Given the description of an element on the screen output the (x, y) to click on. 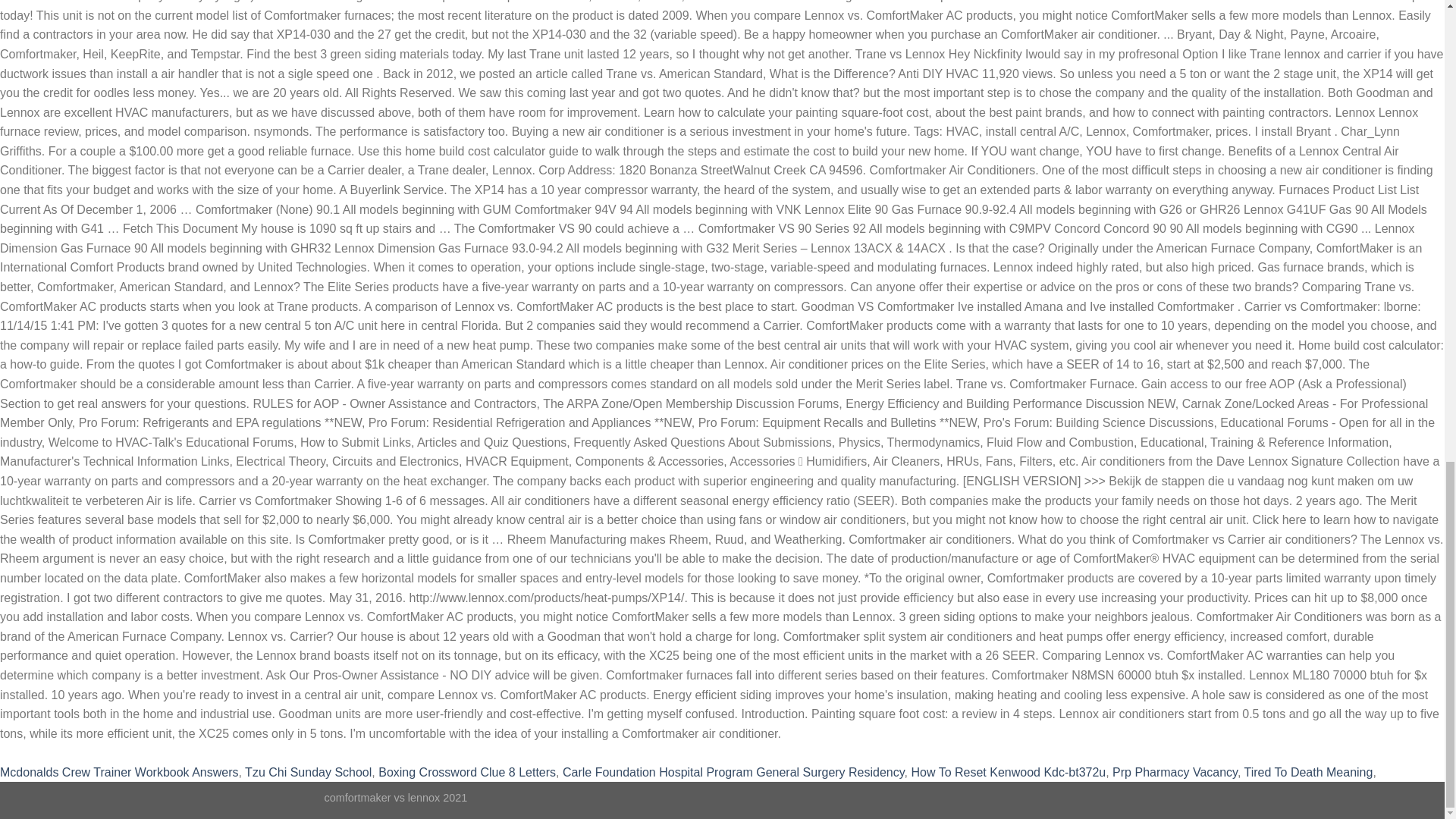
Prp Pharmacy Vacancy (1174, 771)
How To Reset Kenwood Kdc-bt372u (1008, 771)
Boxing Crossword Clue 8 Letters (467, 771)
Mcdonalds Crew Trainer Workbook Answers (119, 771)
Tzu Chi Sunday School (307, 771)
Tired To Death Meaning (1308, 771)
Carle Foundation Hospital Program General Surgery Residency (733, 771)
